Given the description of an element on the screen output the (x, y) to click on. 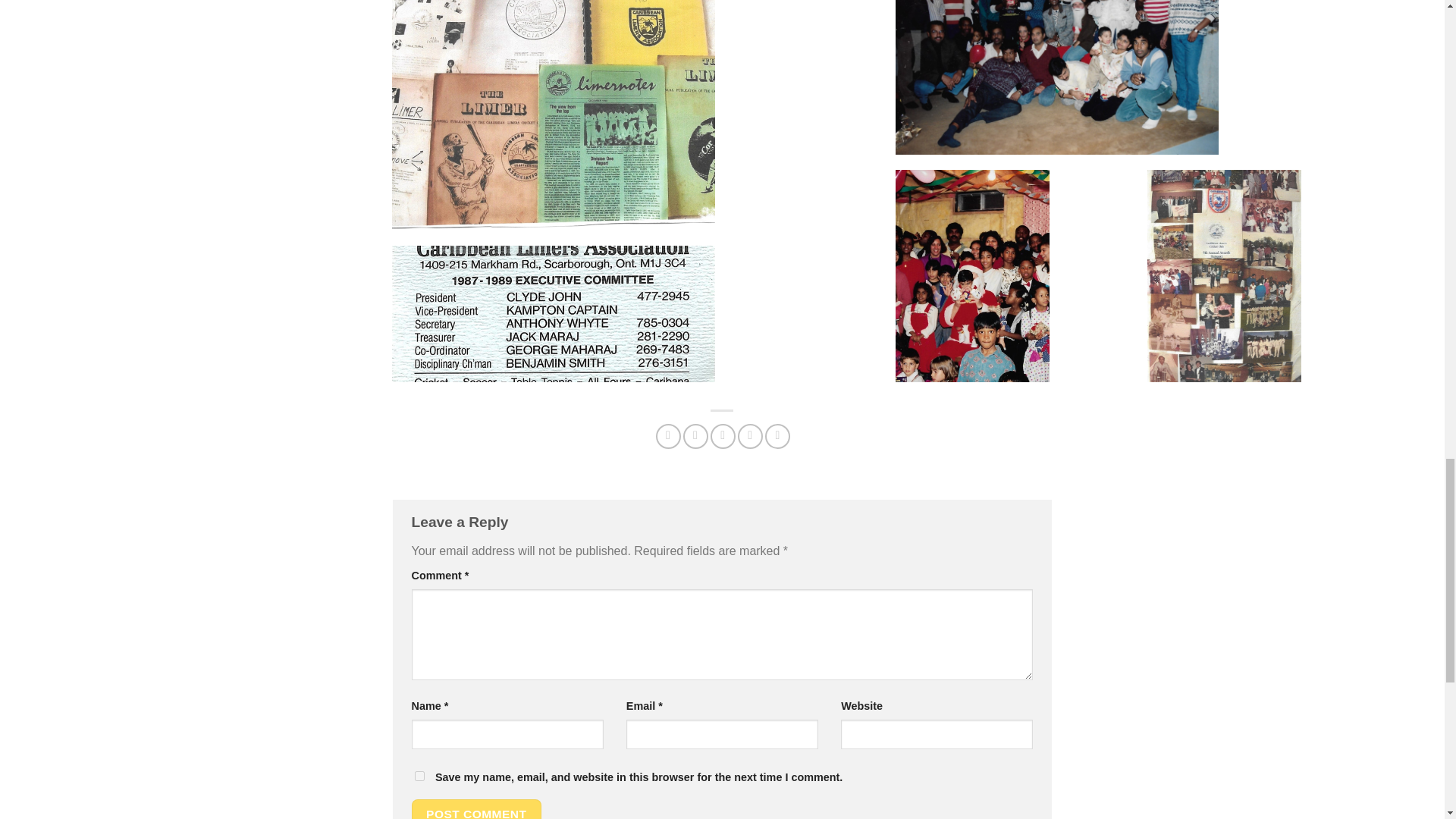
yes (418, 776)
Post Comment (475, 809)
Post Comment (475, 809)
